Given the description of an element on the screen output the (x, y) to click on. 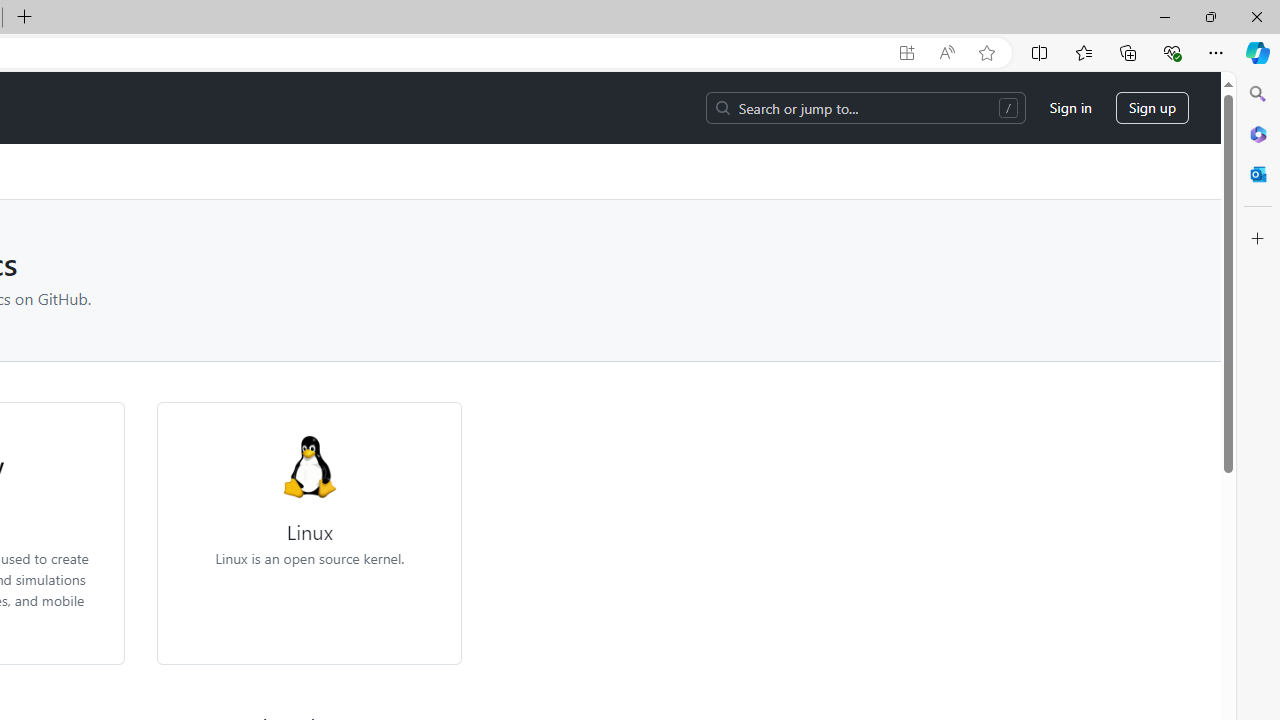
LinuxLinux is an open source kernel. (309, 533)
